Given the description of an element on the screen output the (x, y) to click on. 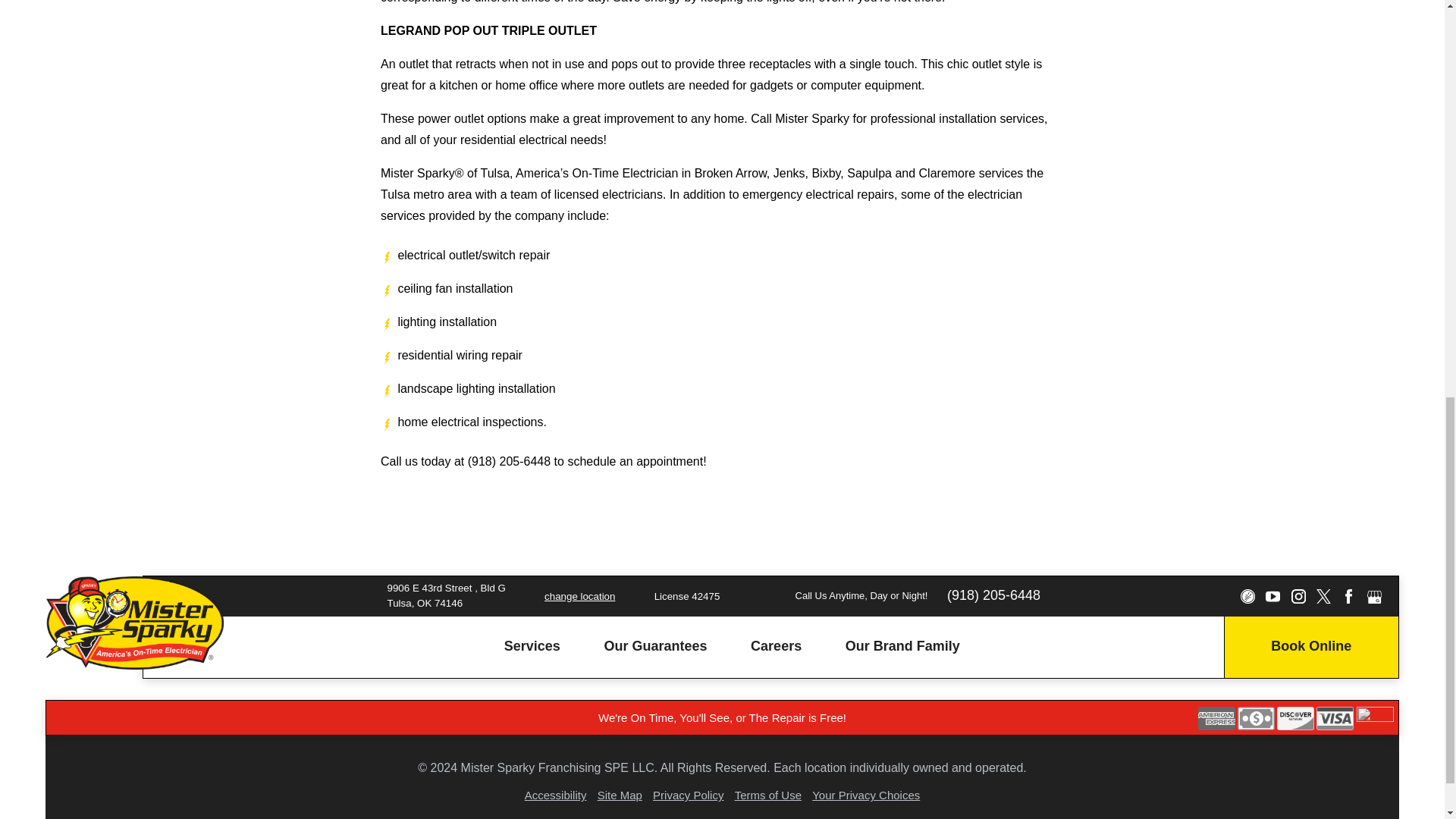
Instagram (1297, 595)
Twitter (1323, 595)
Facebook (1347, 595)
YouTube (1272, 595)
CareerPlug (1247, 595)
Google My Business (1374, 595)
